Given the description of an element on the screen output the (x, y) to click on. 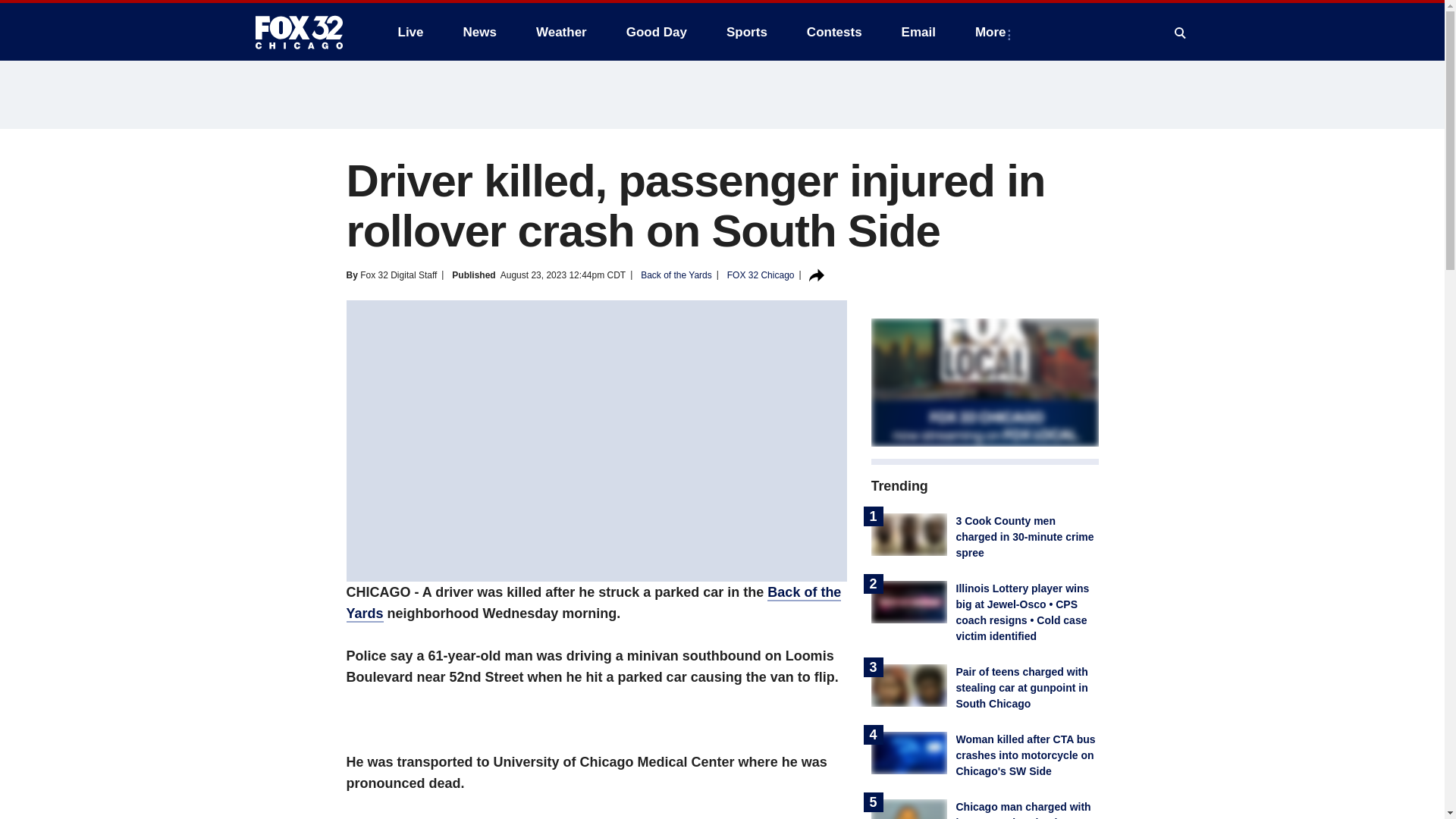
Email (918, 32)
More (993, 32)
Good Day (656, 32)
Live (410, 32)
Sports (746, 32)
Weather (561, 32)
Contests (834, 32)
News (479, 32)
